Given the description of an element on the screen output the (x, y) to click on. 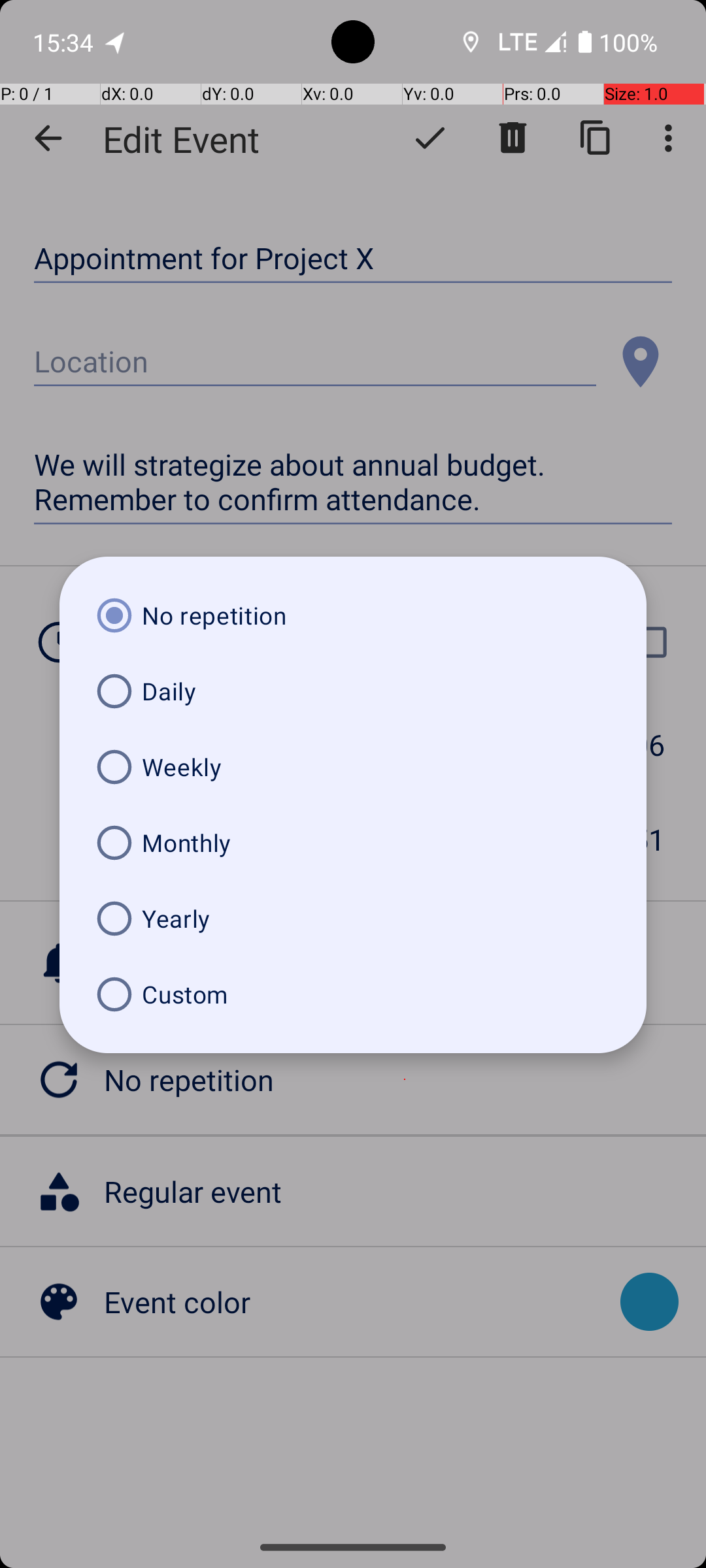
Weekly Element type: android.widget.RadioButton (352, 766)
Yearly Element type: android.widget.RadioButton (352, 918)
